Given the description of an element on the screen output the (x, y) to click on. 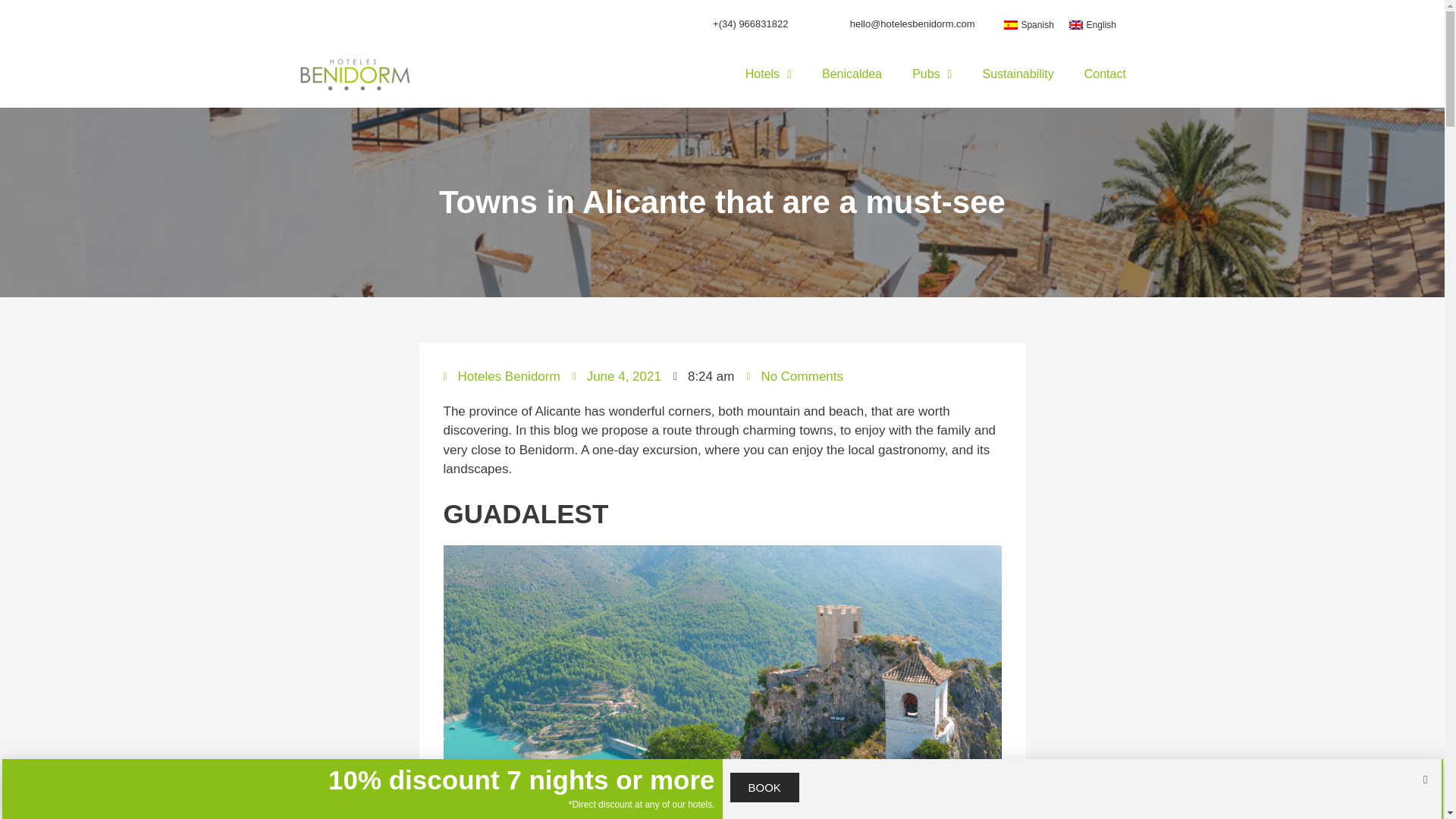
Contact (1104, 73)
Hotels (768, 73)
Pubs (931, 73)
Benicaldea (851, 73)
English (1092, 24)
Sustainability (1017, 73)
Spanish (1028, 24)
